Given the description of an element on the screen output the (x, y) to click on. 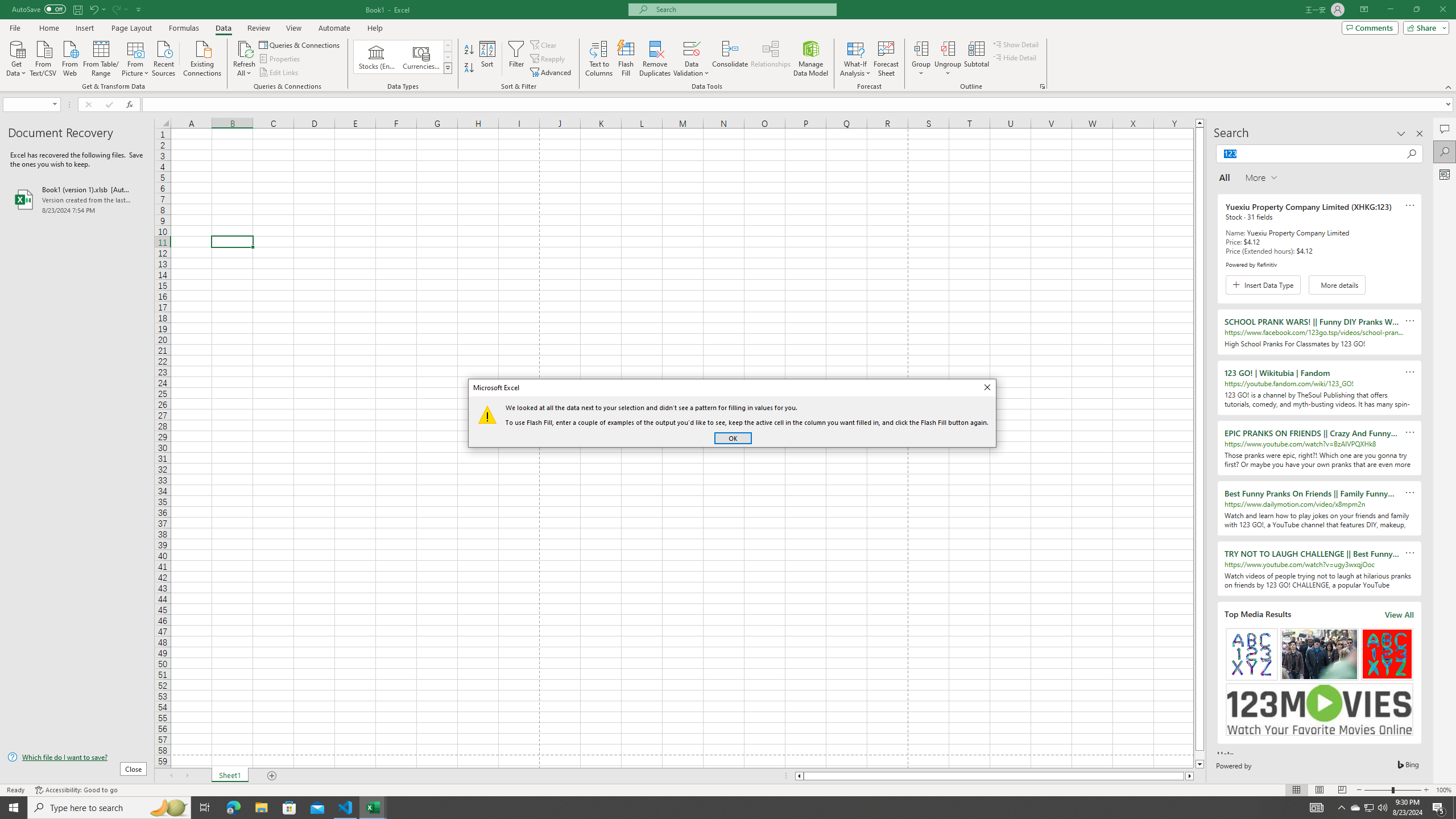
Start (13, 807)
Consolidate... (729, 58)
Get Data (16, 57)
Group and Outline Settings (1042, 85)
Class: Static (487, 414)
Show Detail (1016, 44)
Search highlights icon opens search home window (167, 807)
Flash Fill (1368, 807)
Edit Links (625, 58)
